Given the description of an element on the screen output the (x, y) to click on. 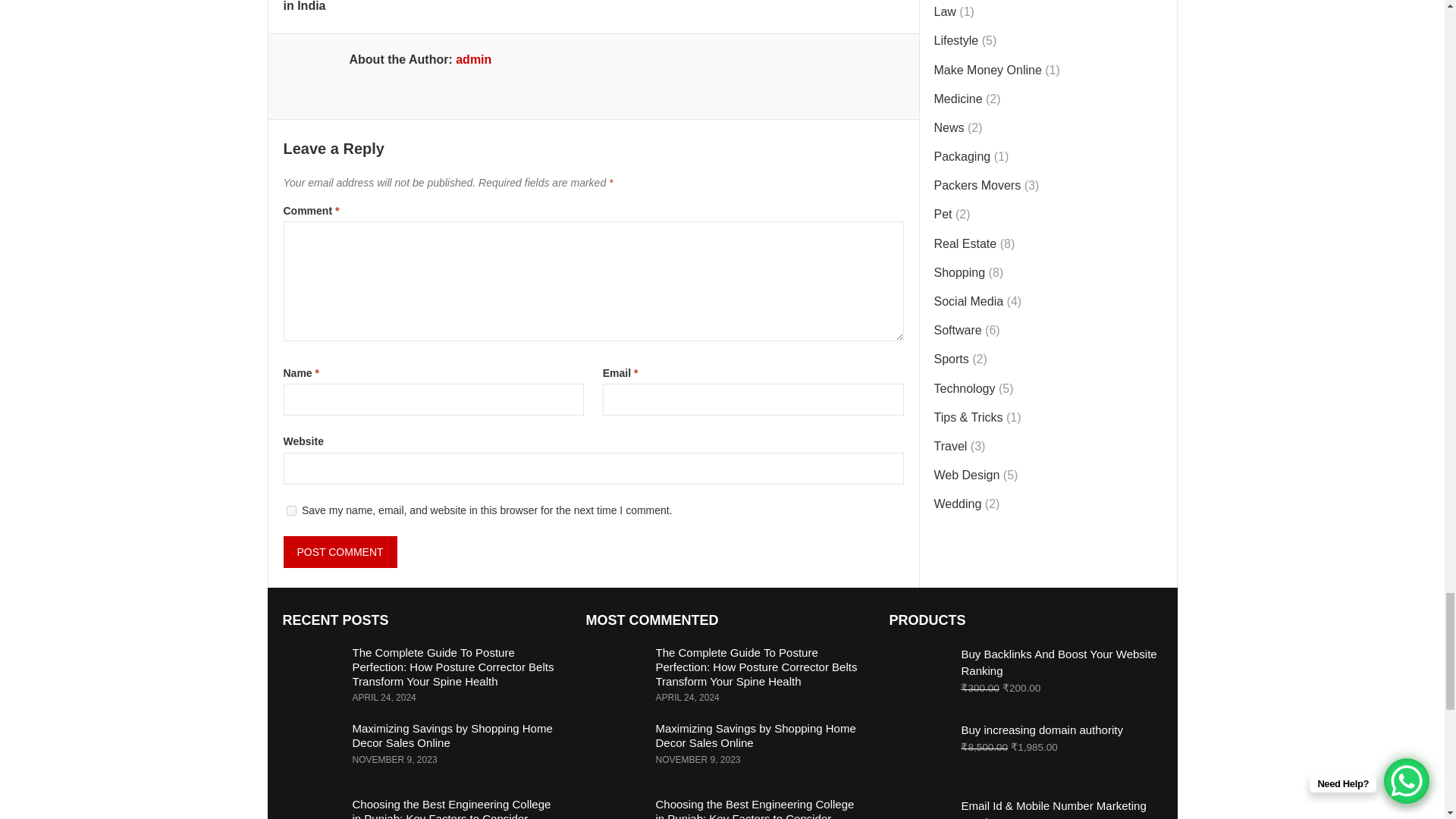
yes (291, 510)
Post Comment (340, 552)
